Given the description of an element on the screen output the (x, y) to click on. 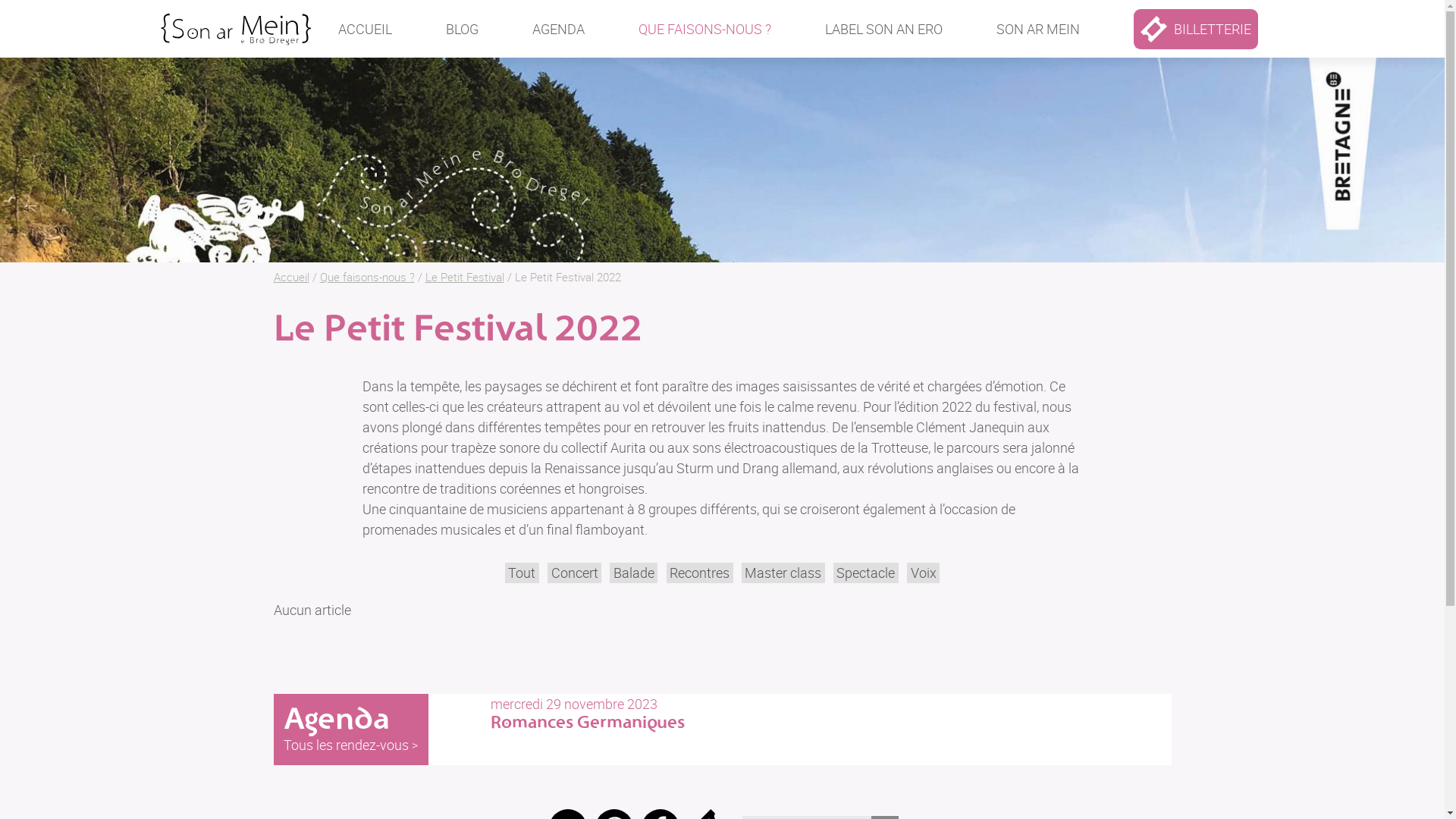
Balade Element type: text (633, 572)
Recontres Element type: text (698, 572)
mercredi 29 novembre 2023
Romances Germaniques Element type: text (599, 712)
Spectacle Element type: text (865, 572)
Le Petit Festival Element type: text (463, 276)
BILLETTERIE Element type: text (1195, 29)
AGENDA Element type: text (558, 28)
Tous les rendez-vous Element type: text (350, 744)
Voix Element type: text (922, 572)
Que faisons-nous ? Element type: text (367, 276)
QUE FAISONS-NOUS ? Element type: text (704, 28)
Master class Element type: text (783, 572)
Concert Element type: text (574, 572)
Accueil Element type: text (290, 276)
BLOG Element type: text (461, 28)
SON AR MEIN Element type: text (1037, 28)
Tout Element type: text (522, 572)
ACCUEIL Element type: text (365, 28)
Accueil Element type: hover (234, 21)
LABEL SON AN ERO Element type: text (883, 28)
